Given the description of an element on the screen output the (x, y) to click on. 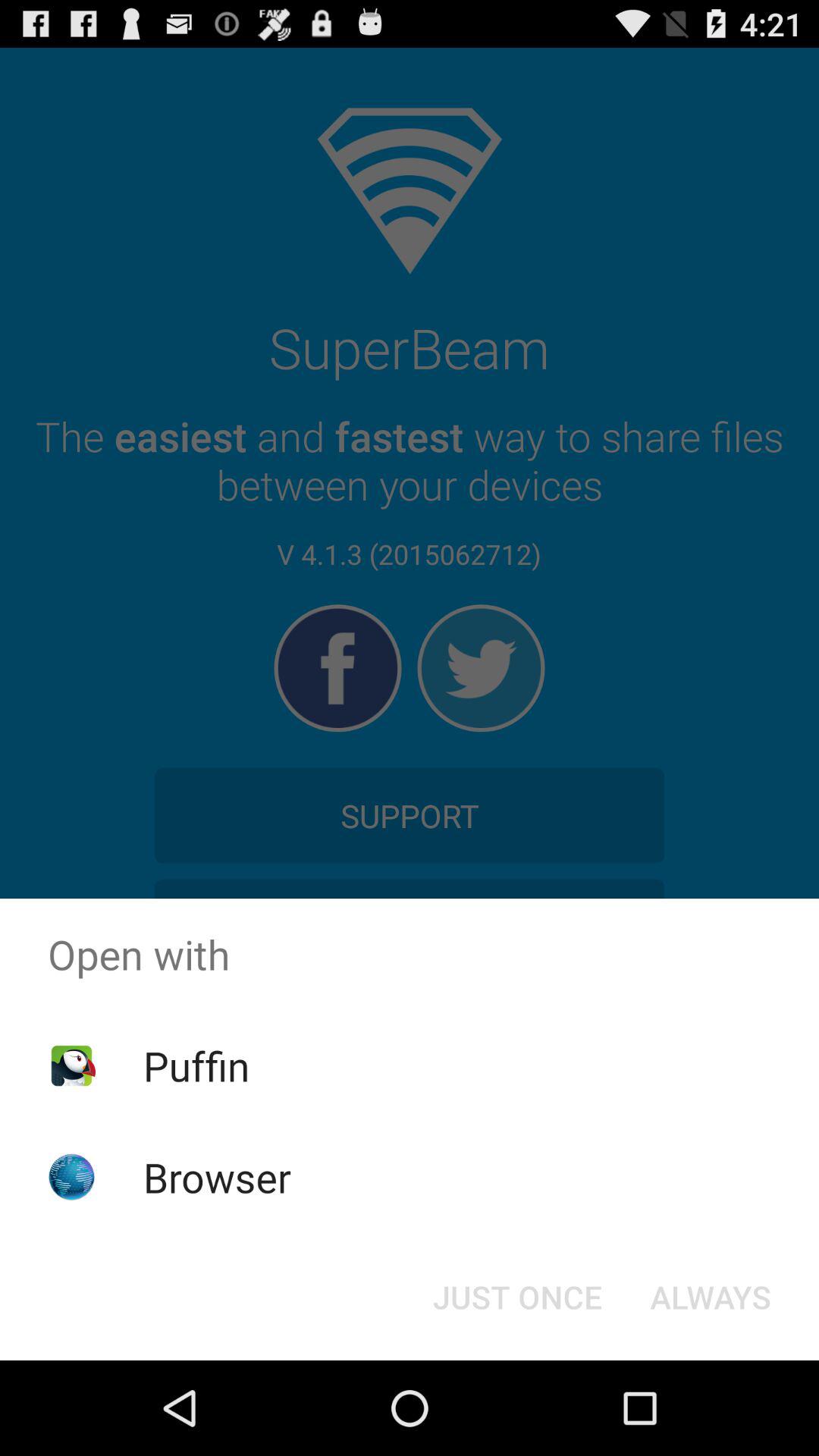
open the icon below open with (517, 1296)
